Given the description of an element on the screen output the (x, y) to click on. 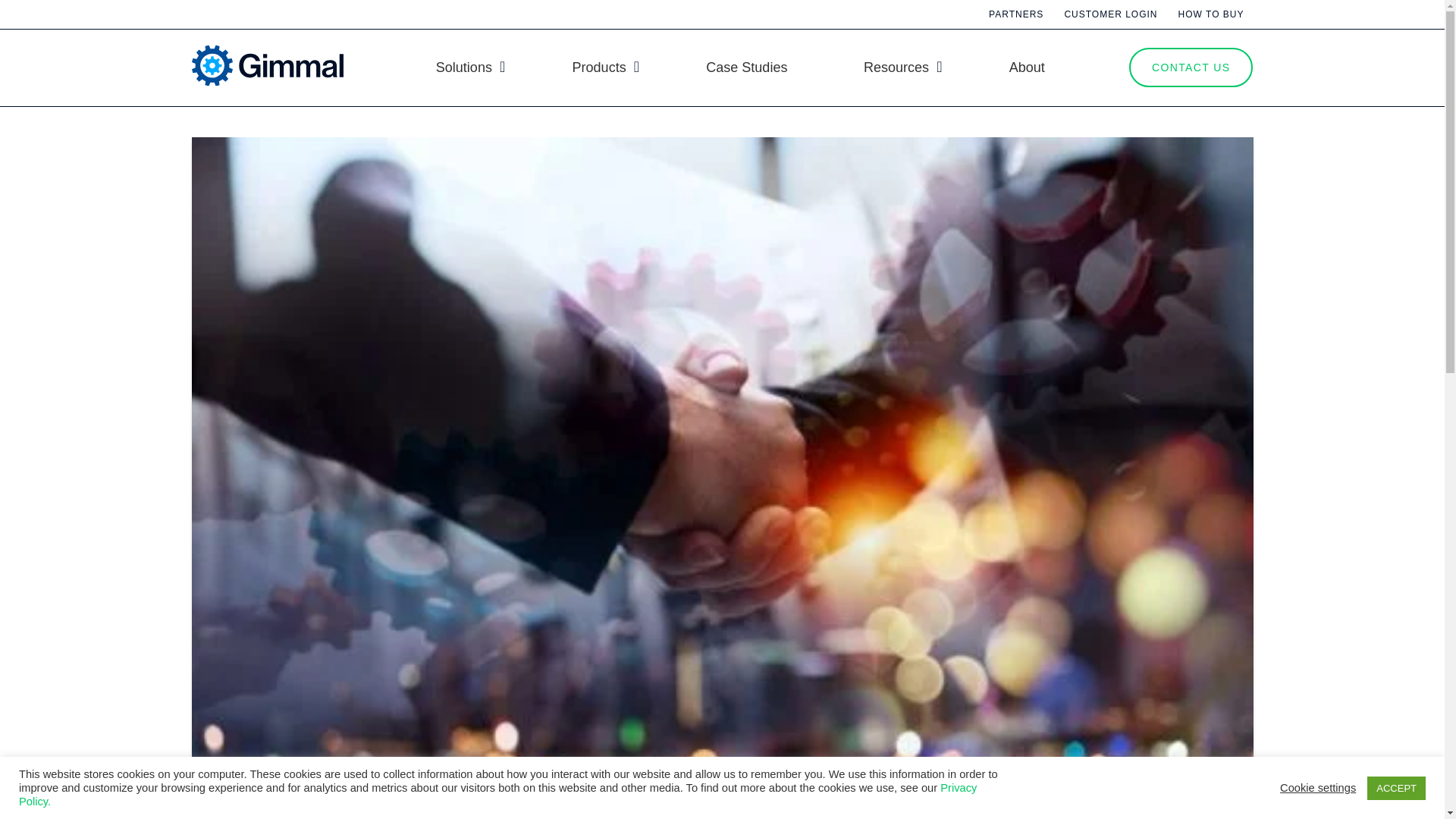
Case Studies (746, 67)
About (1027, 67)
CONTACT US (1167, 66)
Resources (898, 67)
CUSTOMER LOGIN (1110, 14)
HOW TO BUY (1210, 14)
PARTNERS (1015, 14)
Products (601, 67)
Solutions (465, 67)
